Given the description of an element on the screen output the (x, y) to click on. 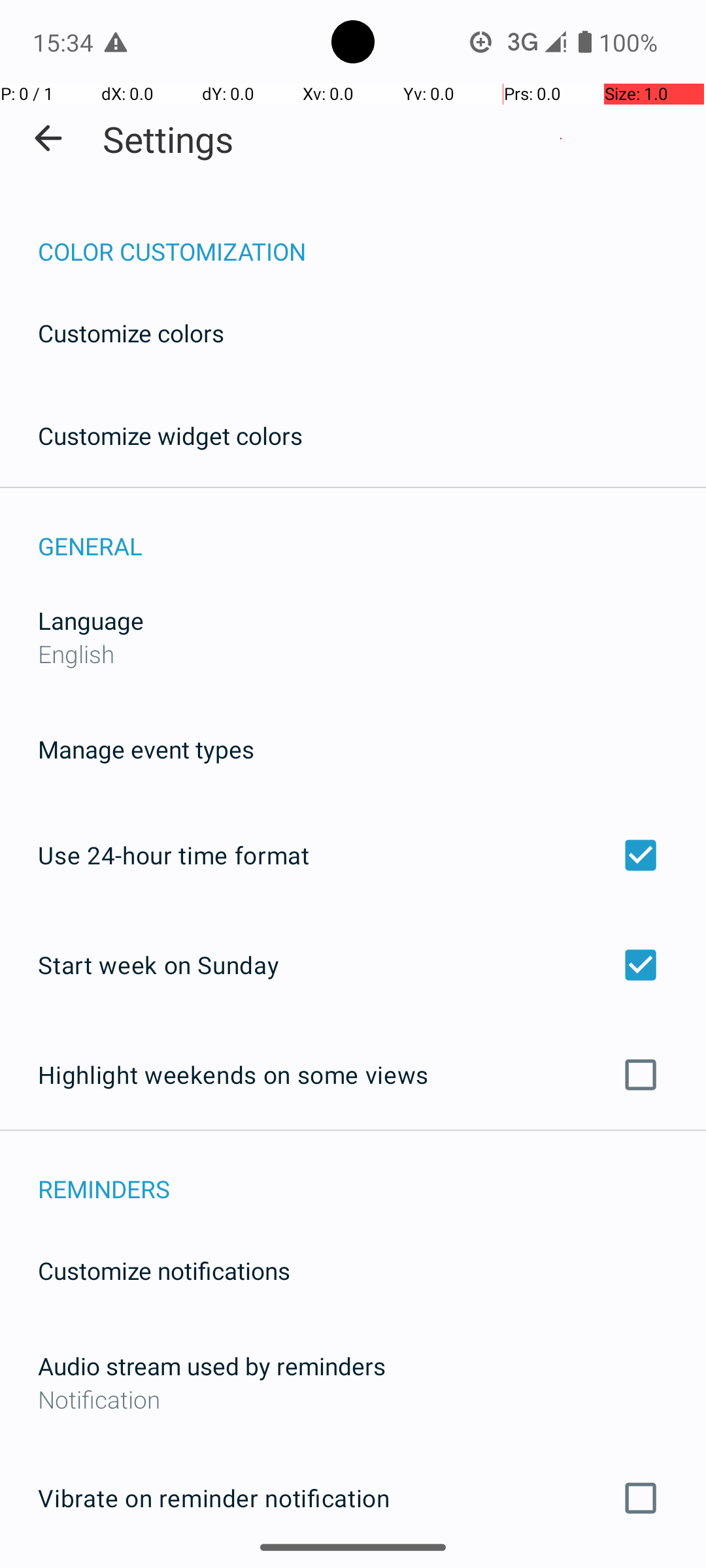
COLOR CUSTOMIZATION Element type: android.widget.TextView (371, 237)
GENERAL Element type: android.widget.TextView (371, 532)
REMINDERS Element type: android.widget.TextView (371, 1174)
Customize colors Element type: android.widget.TextView (130, 332)
Customize widget colors Element type: android.widget.TextView (170, 435)
English Element type: android.widget.TextView (75, 653)
Manage event types Element type: android.widget.TextView (145, 748)
Use 24-hour time format Element type: android.widget.CheckBox (352, 855)
Start week on Sunday Element type: android.widget.CheckBox (352, 964)
Highlight weekends on some views Element type: android.widget.CheckBox (352, 1074)
Customize notifications Element type: android.widget.TextView (163, 1270)
Audio stream used by reminders Element type: android.widget.TextView (211, 1365)
Notification Element type: android.widget.TextView (352, 1398)
Vibrate on reminder notification Element type: android.widget.CheckBox (352, 1497)
Loop reminders until dismissed Element type: android.widget.CheckBox (352, 1567)
